Given the description of an element on the screen output the (x, y) to click on. 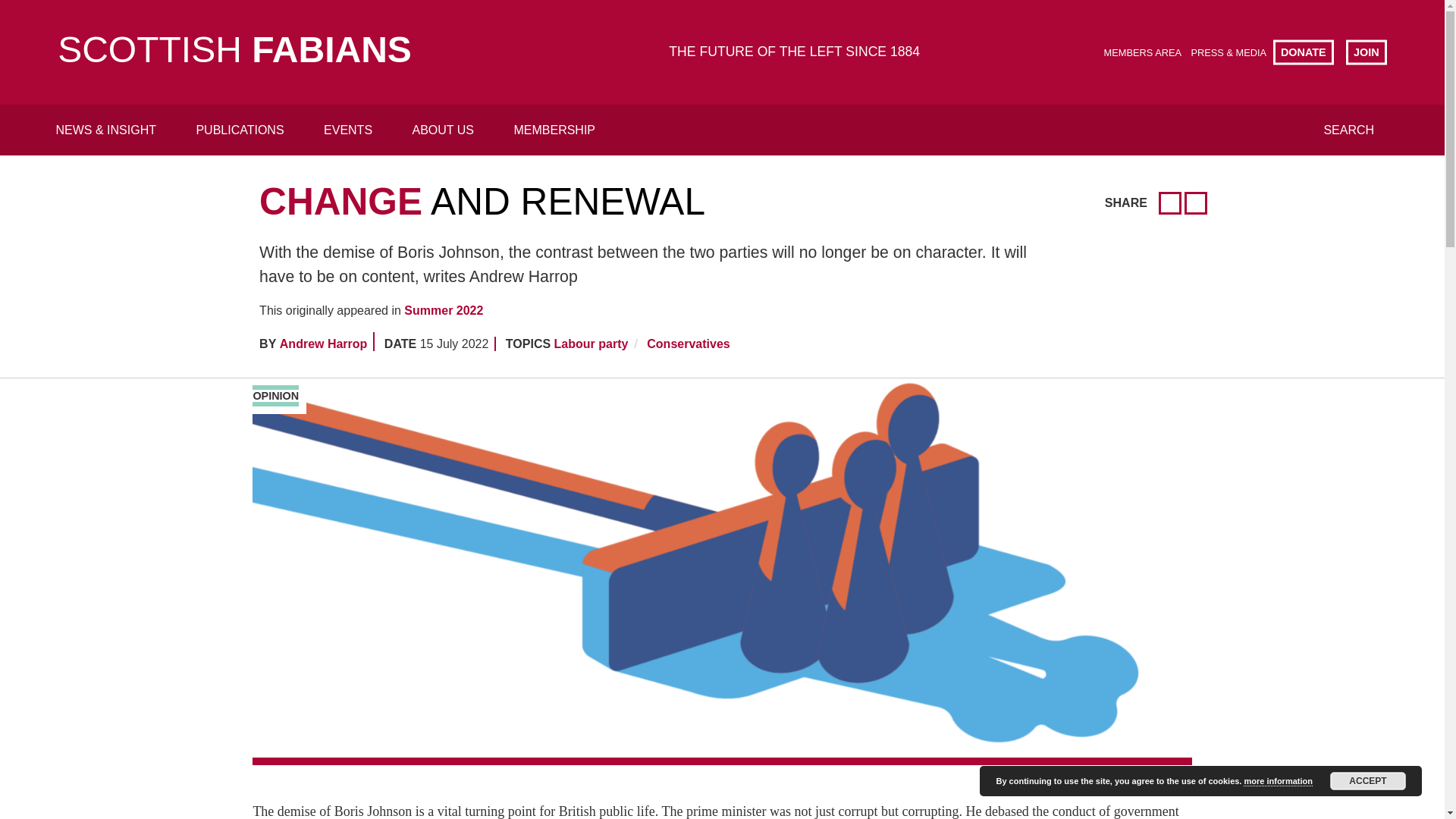
site-search (714, 76)
JOIN (1366, 52)
SCOTTISH FABIANS (235, 51)
ABOUT US (443, 129)
SEARCH (1348, 129)
MEMBERSHIP (553, 129)
MEMBERS AREA (1141, 52)
PUBLICATIONS (239, 129)
DONATE (1302, 52)
EVENTS (347, 129)
